Given the description of an element on the screen output the (x, y) to click on. 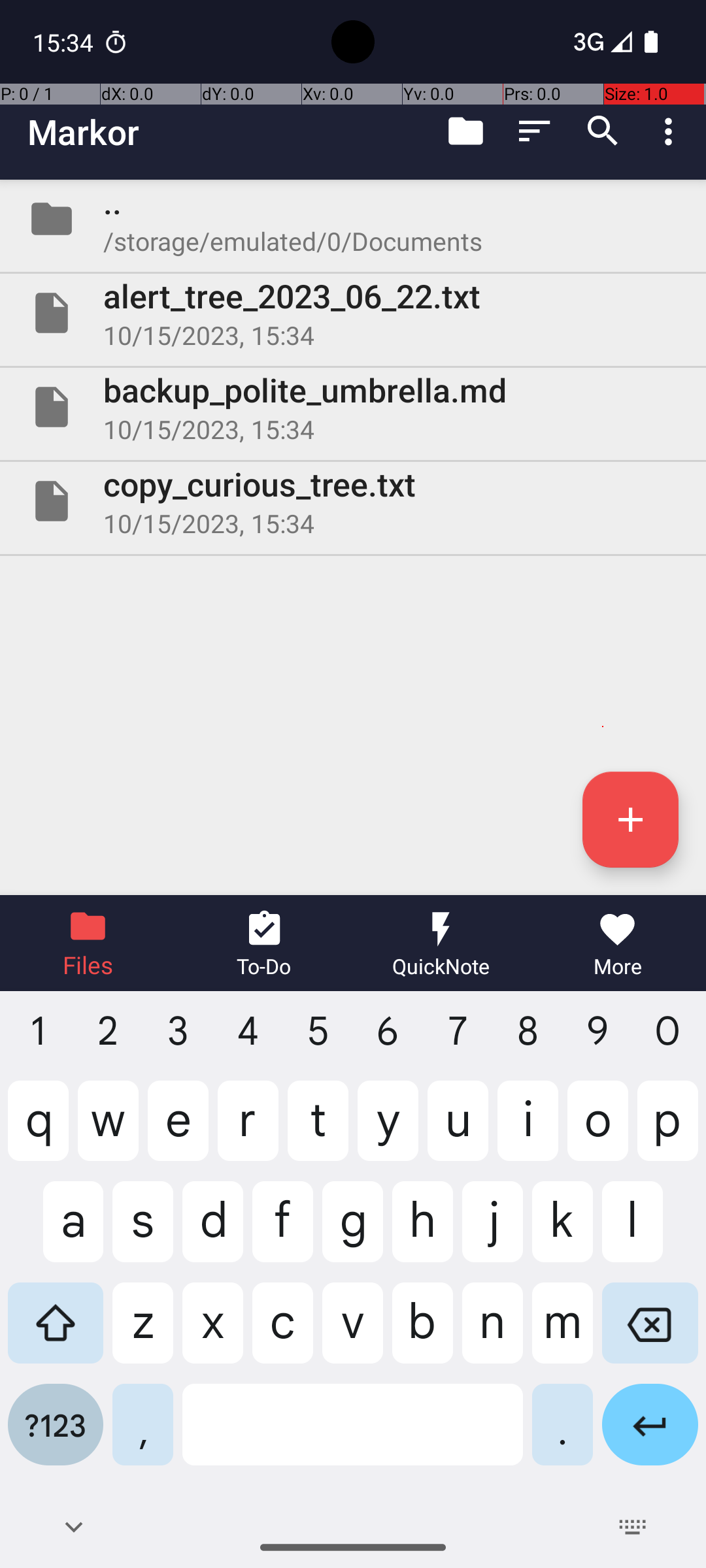
File alert_tree_2023_06_22.txt  Element type: android.widget.LinearLayout (353, 312)
File backup_polite_umbrella.md  Element type: android.widget.LinearLayout (353, 406)
File copy_curious_tree.txt  Element type: android.widget.LinearLayout (353, 500)
